Given the description of an element on the screen output the (x, y) to click on. 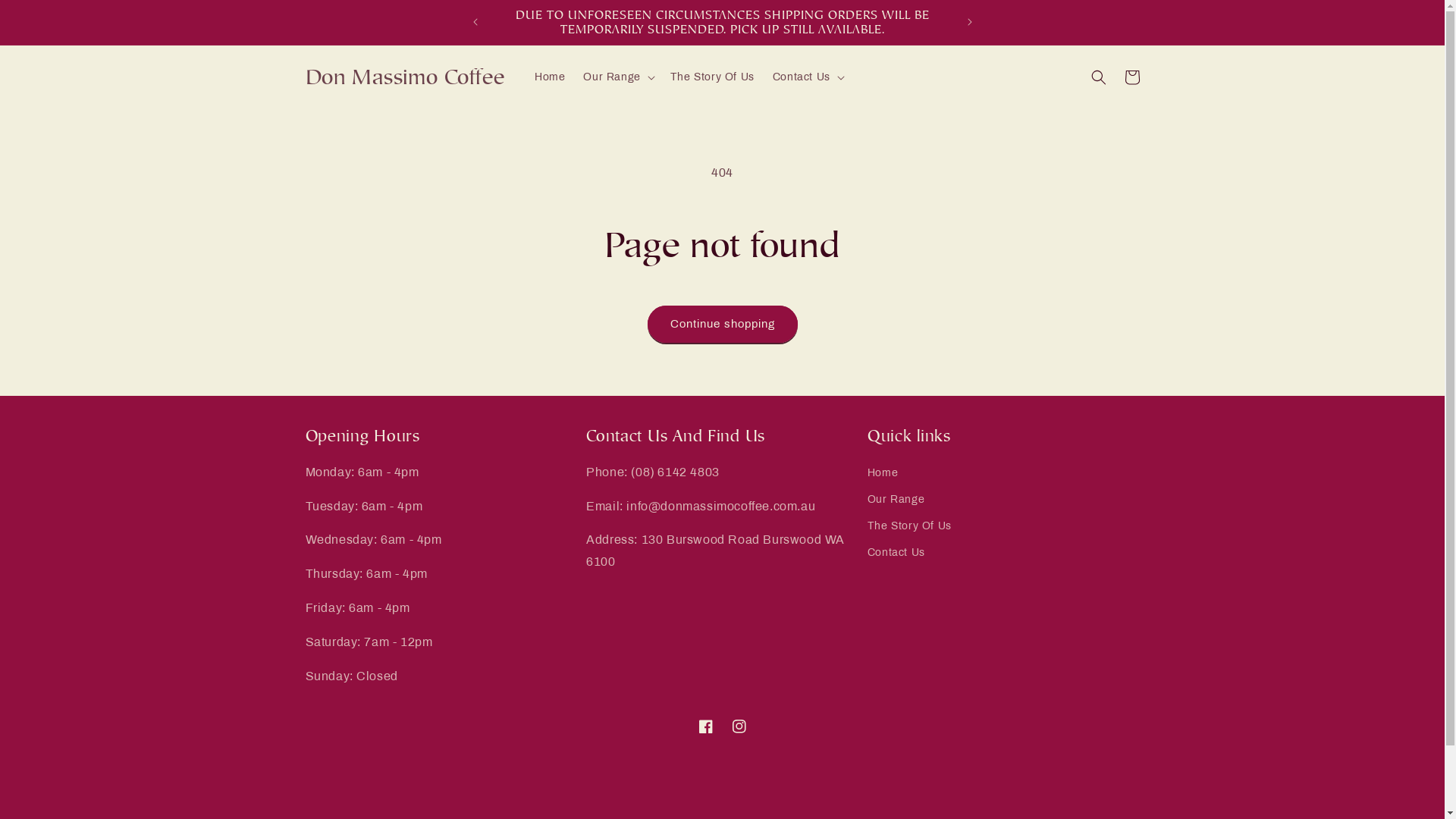
Contact Us Element type: text (896, 552)
Home Element type: text (882, 474)
The Story Of Us Element type: text (712, 77)
Facebook Element type: text (704, 726)
Cart Element type: text (1131, 77)
Continue shopping Element type: text (722, 323)
The Story Of Us Element type: text (909, 525)
Instagram Element type: text (738, 726)
Home Element type: text (549, 77)
Our Range Element type: text (895, 499)
Don Massimo Coffee Element type: text (404, 77)
